Given the description of an element on the screen output the (x, y) to click on. 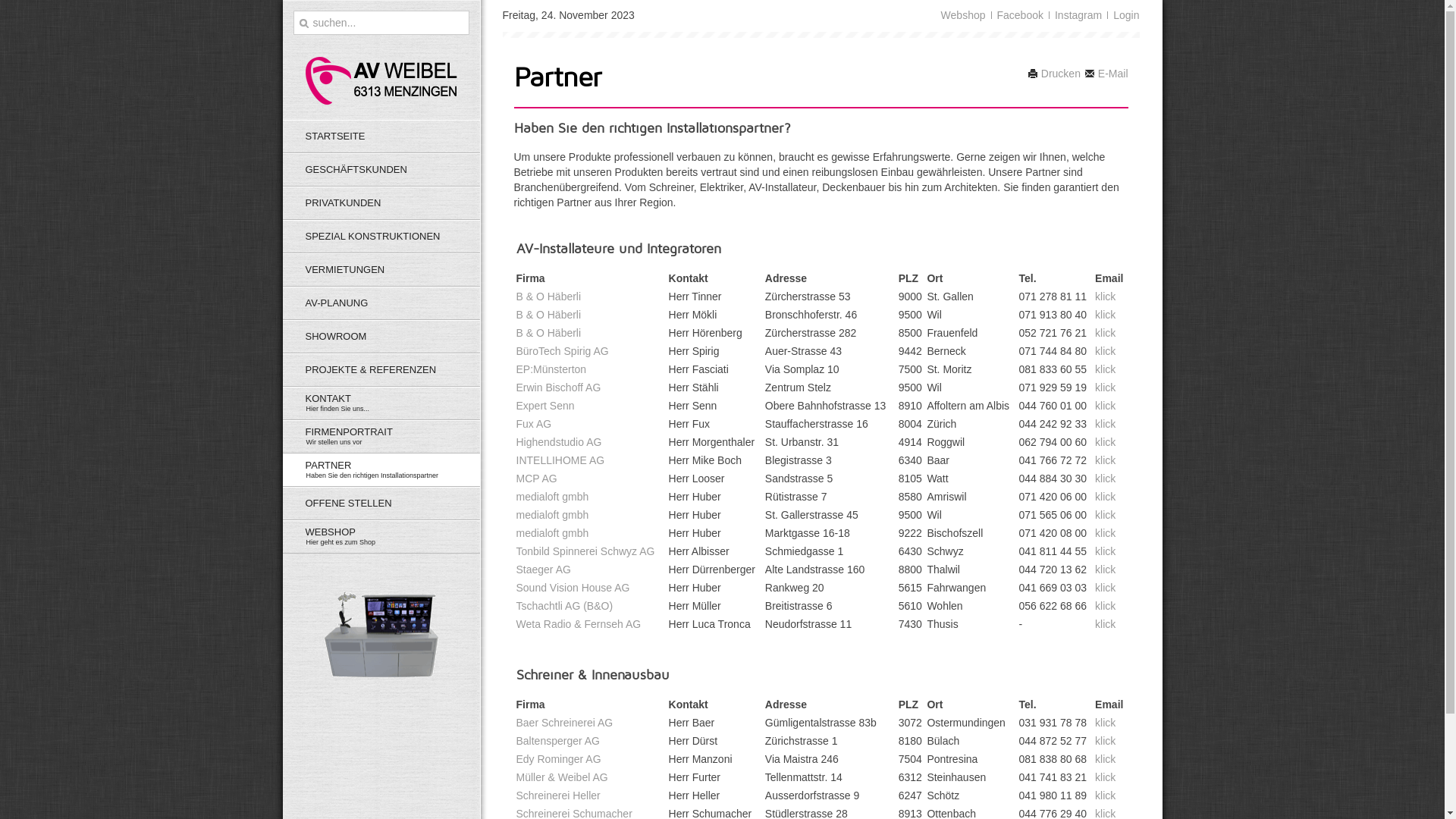
klick Element type: text (1105, 496)
Expert Senn Element type: text (544, 405)
Tschachtli AG (B&O) Element type: text (563, 605)
PARTNER
Haben Sie den richtigen Installationspartner Element type: text (380, 470)
Facebook Element type: text (1019, 14)
klick Element type: text (1105, 423)
Instagram Element type: text (1077, 14)
Baer Schreinerei AG Element type: text (563, 722)
klick Element type: text (1105, 740)
Weta Radio & Fernseh AG Element type: text (577, 624)
klick Element type: text (1105, 460)
klick Element type: text (1105, 569)
KONTAKT
Hier finden Sie uns... Element type: text (380, 403)
VERMIETUNGEN Element type: text (380, 269)
klick Element type: text (1105, 351)
Reset Element type: text (3, 3)
STARTSEITE Element type: text (380, 136)
klick Element type: text (1105, 777)
Webshop Element type: text (963, 14)
klick Element type: text (1105, 722)
SPEZIAL KONSTRUKTIONEN Element type: text (380, 236)
Baltensperger AG Element type: text (557, 740)
INTELLIHOME AG Element type: text (559, 460)
medialoft gmbh Element type: text (551, 496)
PRIVATKUNDEN Element type: text (380, 203)
klick Element type: text (1105, 551)
Highendstudio AG Element type: text (558, 442)
SHOWROOM Element type: text (380, 336)
klick Element type: text (1105, 442)
Edy Rominger AG Element type: text (557, 759)
WEBSHOP
Hier geht es zum Shop Element type: text (380, 536)
Tonbild Spinnerei Schwyz AG Element type: text (584, 551)
klick Element type: text (1105, 387)
Drucken Element type: text (1053, 73)
medialoft gmbh Element type: text (551, 514)
klick Element type: text (1105, 296)
klick Element type: text (1105, 533)
klick Element type: text (1105, 369)
klick Element type: text (1105, 405)
klick Element type: text (1105, 605)
Schreinerei Heller Element type: text (557, 795)
AV-PLANUNG Element type: text (380, 303)
klick Element type: text (1105, 332)
Login Element type: text (1126, 14)
klick Element type: text (1105, 587)
E-Mail Element type: text (1106, 73)
Fux AG Element type: text (533, 423)
OFFENE STELLEN Element type: text (380, 503)
klick Element type: text (1105, 759)
Staeger AG Element type: text (542, 569)
Sound Vision House AG Element type: text (572, 587)
klick Element type: text (1105, 624)
klick Element type: text (1105, 795)
klick Element type: text (1105, 514)
MCP AG Element type: text (535, 478)
medialoft gmbh Element type: text (551, 533)
FIRMENPORTRAIT
Wir stellen uns vor Element type: text (380, 436)
klick Element type: text (1105, 314)
klick Element type: text (1105, 478)
Erwin Bischoff AG Element type: text (557, 387)
PROJEKTE & REFERENZEN Element type: text (380, 369)
